Given the description of an element on the screen output the (x, y) to click on. 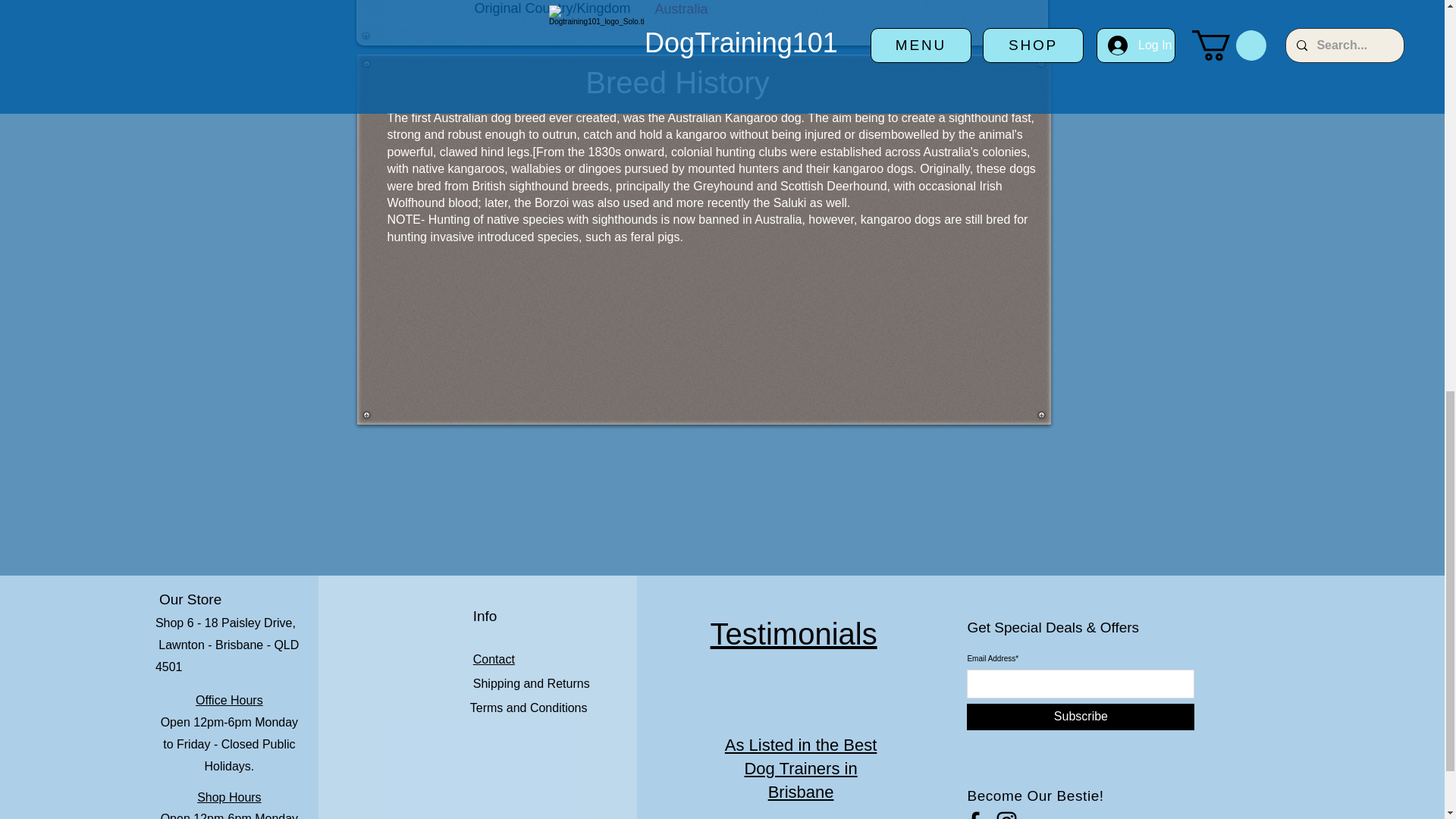
Contact (494, 658)
As Listed in the Best Dog Trainers in Brisbane (801, 768)
Subscribe (1079, 716)
Terms and Conditions (529, 707)
Testimonials (793, 633)
Shipping and Returns (531, 683)
